Given the description of an element on the screen output the (x, y) to click on. 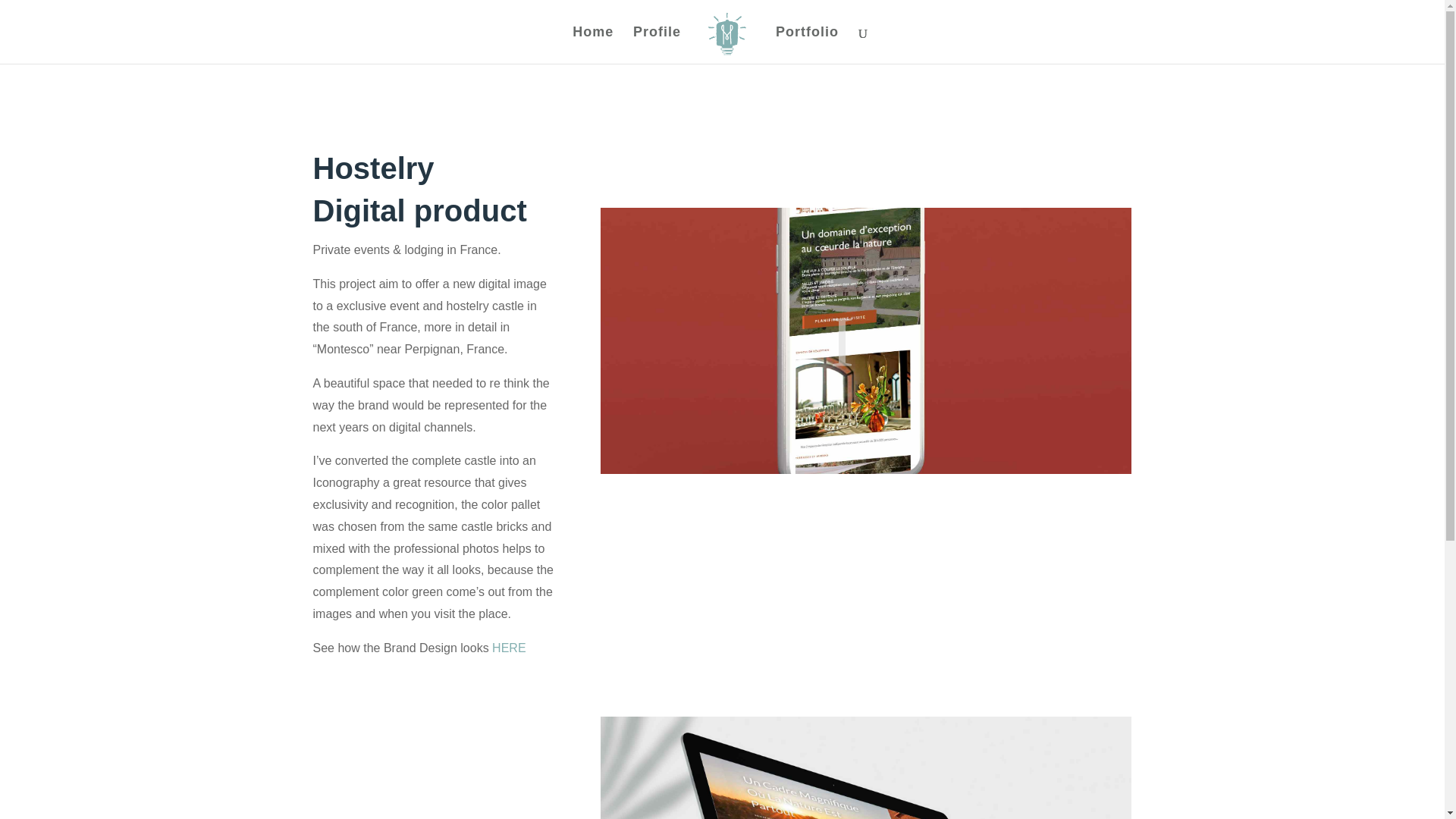
Portfolio (807, 44)
Profile (657, 44)
Home (592, 44)
HERE (508, 647)
